Given the description of an element on the screen output the (x, y) to click on. 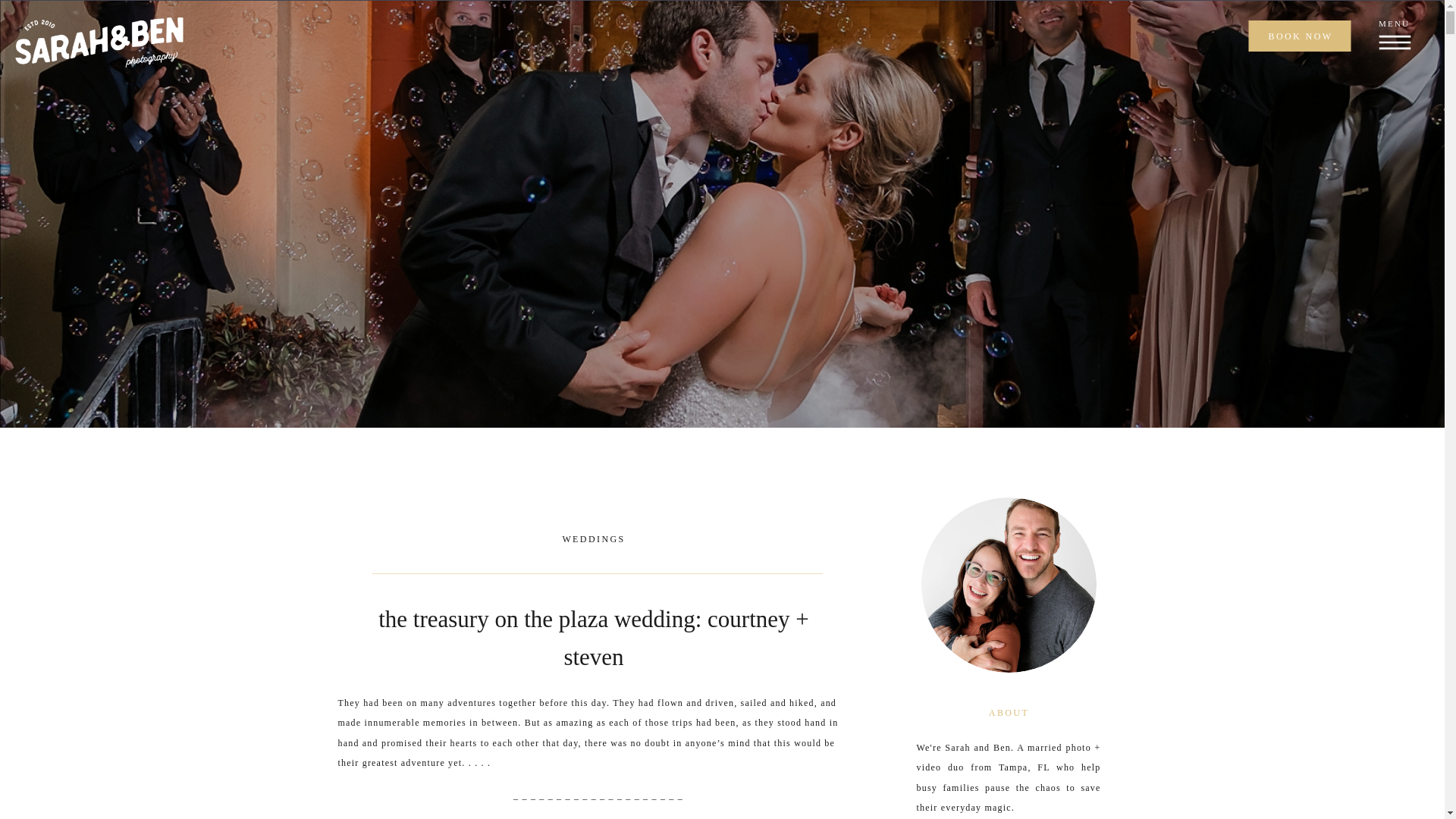
WEDDINGS (593, 538)
BOOK NOW (1299, 35)
